Given the description of an element on the screen output the (x, y) to click on. 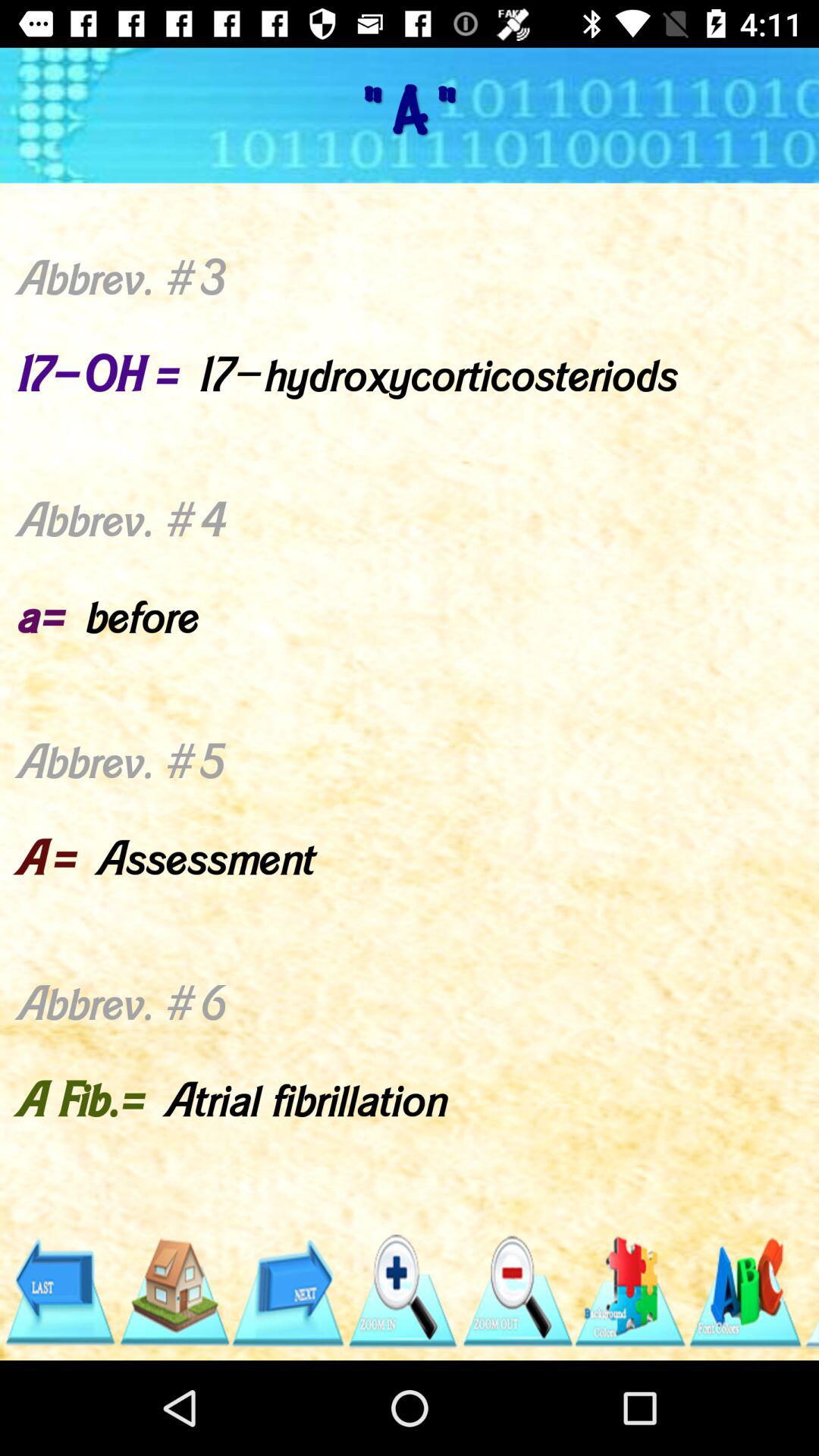
home (173, 1291)
